Given the description of an element on the screen output the (x, y) to click on. 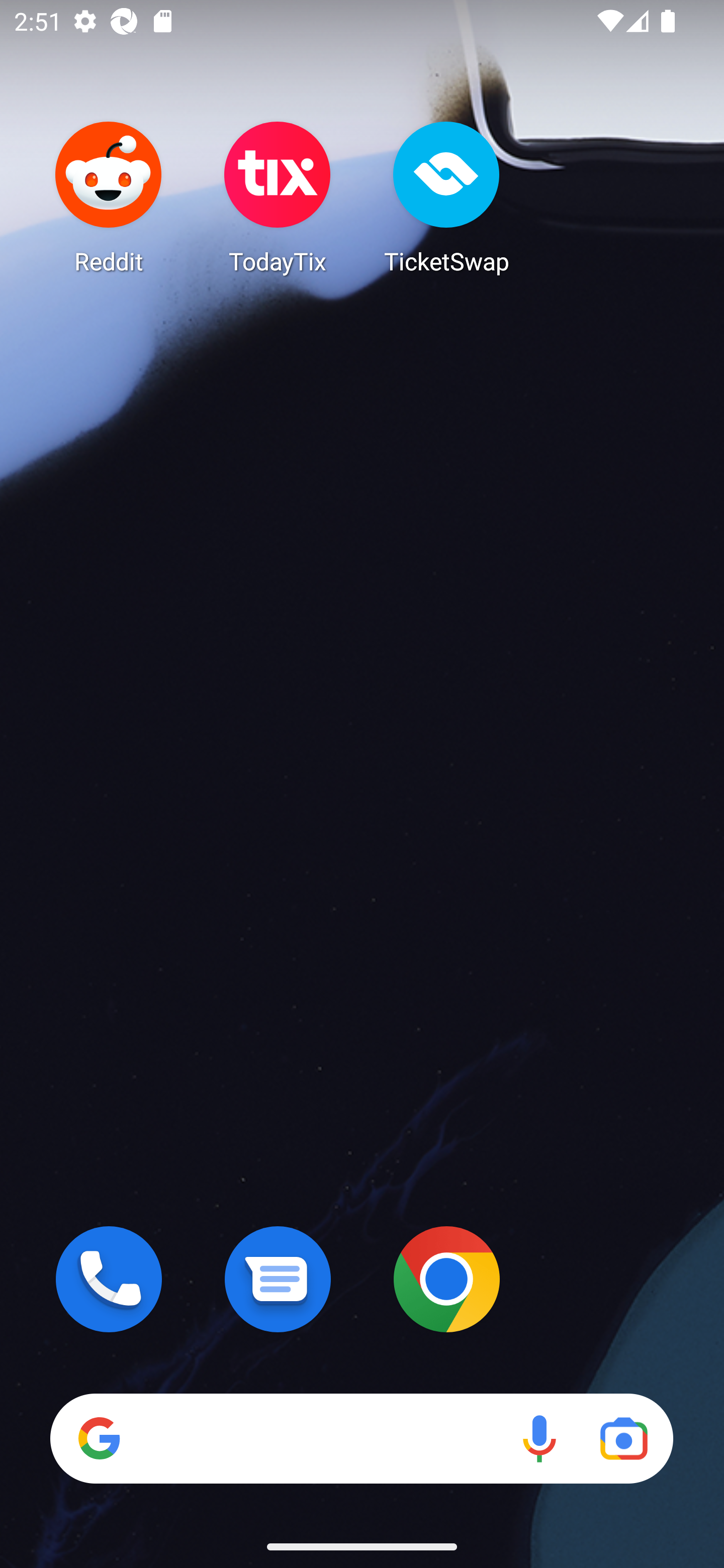
Reddit (108, 196)
TodayTix (277, 196)
TicketSwap (445, 196)
Phone (108, 1279)
Messages (277, 1279)
Chrome (446, 1279)
Voice search (539, 1438)
Google Lens (623, 1438)
